Given the description of an element on the screen output the (x, y) to click on. 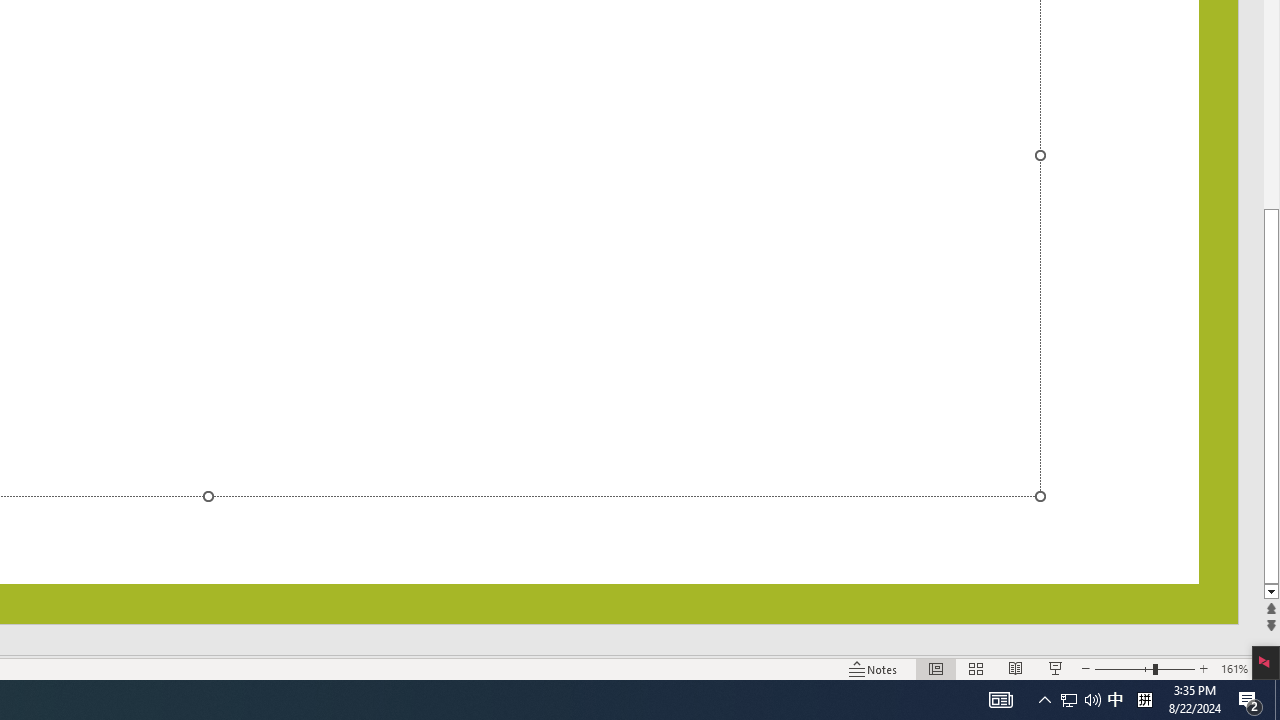
Zoom 161% (1234, 668)
Notes  (874, 668)
